Given the description of an element on the screen output the (x, y) to click on. 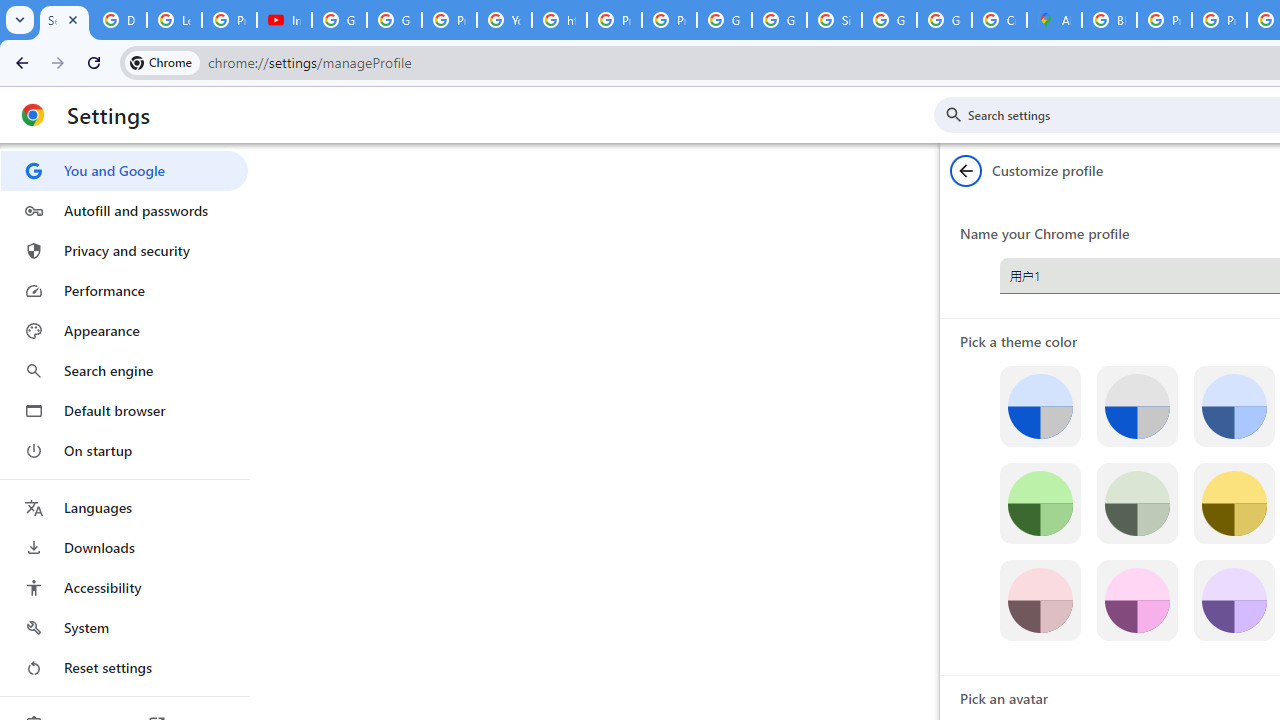
Reset settings (124, 668)
Create your Google Account (998, 20)
Privacy Help Center - Policies Help (1218, 20)
https://scholar.google.com/ (559, 20)
Downloads (124, 547)
Search engine (124, 370)
Settings - Customize profile (64, 20)
Languages (124, 507)
Privacy Help Center - Policies Help (1163, 20)
YouTube (504, 20)
You and Google (124, 170)
